Given the description of an element on the screen output the (x, y) to click on. 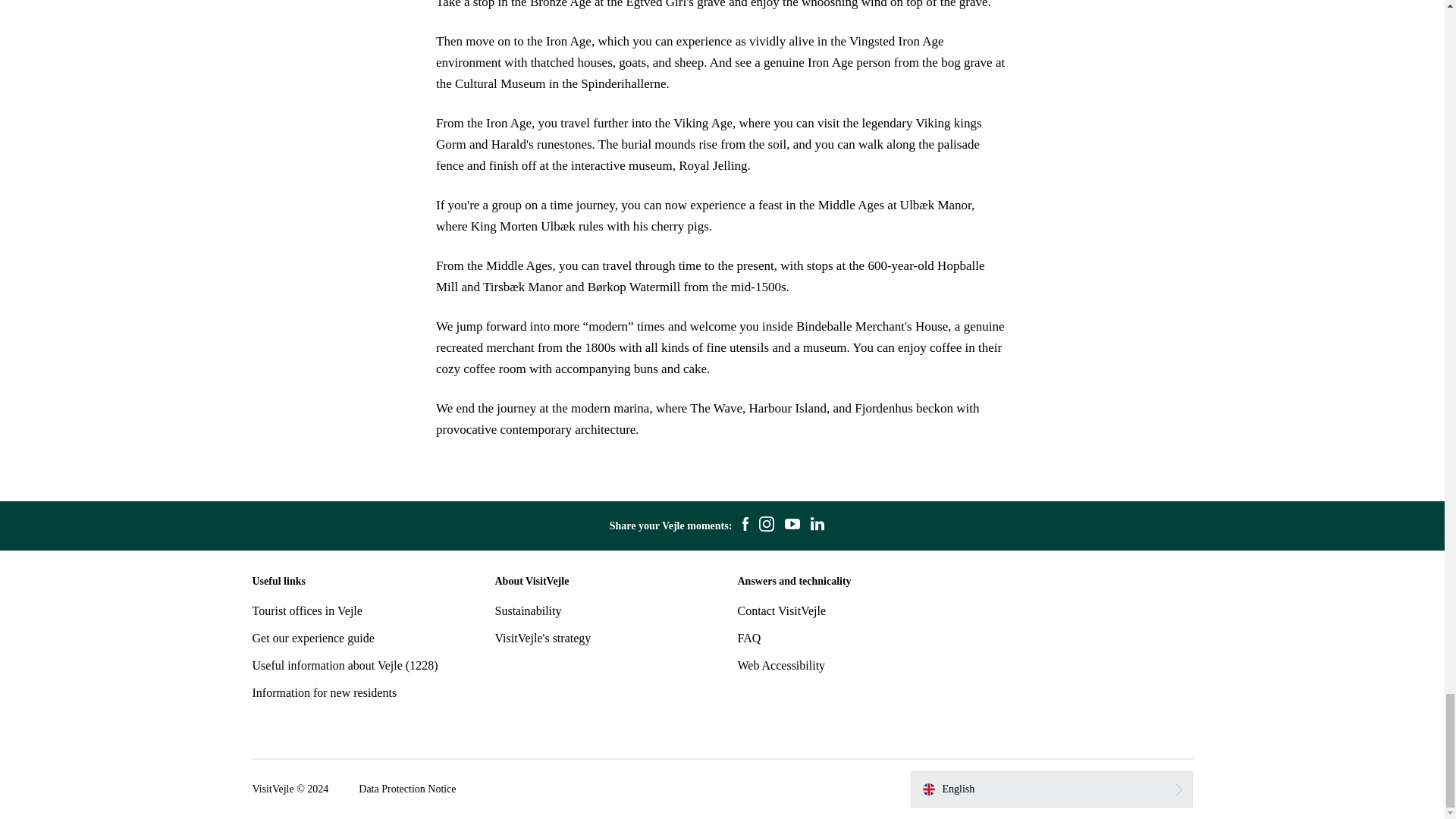
Web Accessibility (780, 665)
FAQ (748, 637)
Information for new residents (323, 691)
facebook (745, 525)
linkedin (817, 525)
youtube (791, 525)
Get our experience guide (312, 637)
instagram (766, 526)
Tourist offices in Vejle (306, 610)
Contact VisitVejle (780, 610)
